Given the description of an element on the screen output the (x, y) to click on. 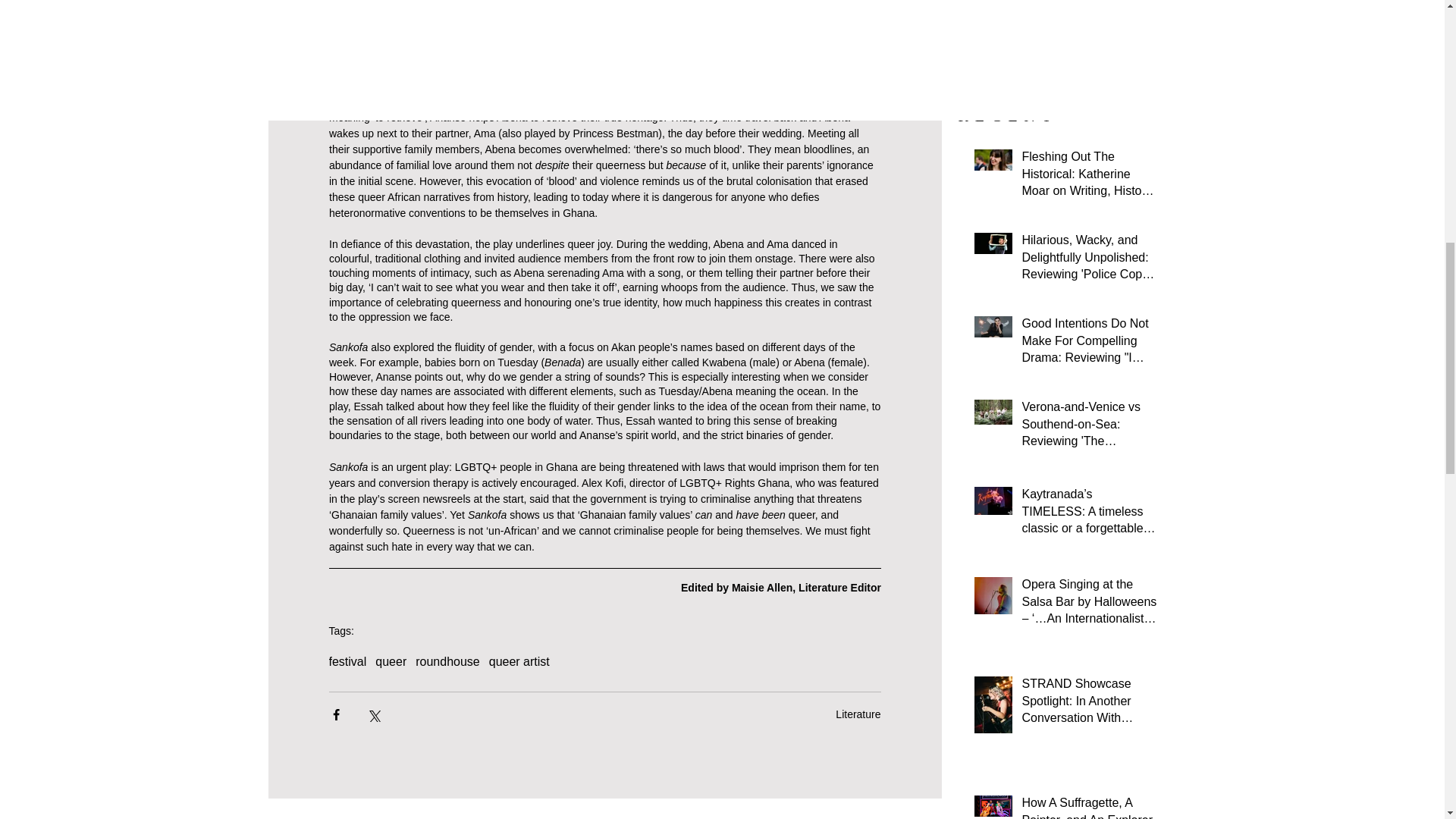
queer (390, 662)
Literature (857, 714)
festival (347, 662)
queer artist (519, 662)
